Given the description of an element on the screen output the (x, y) to click on. 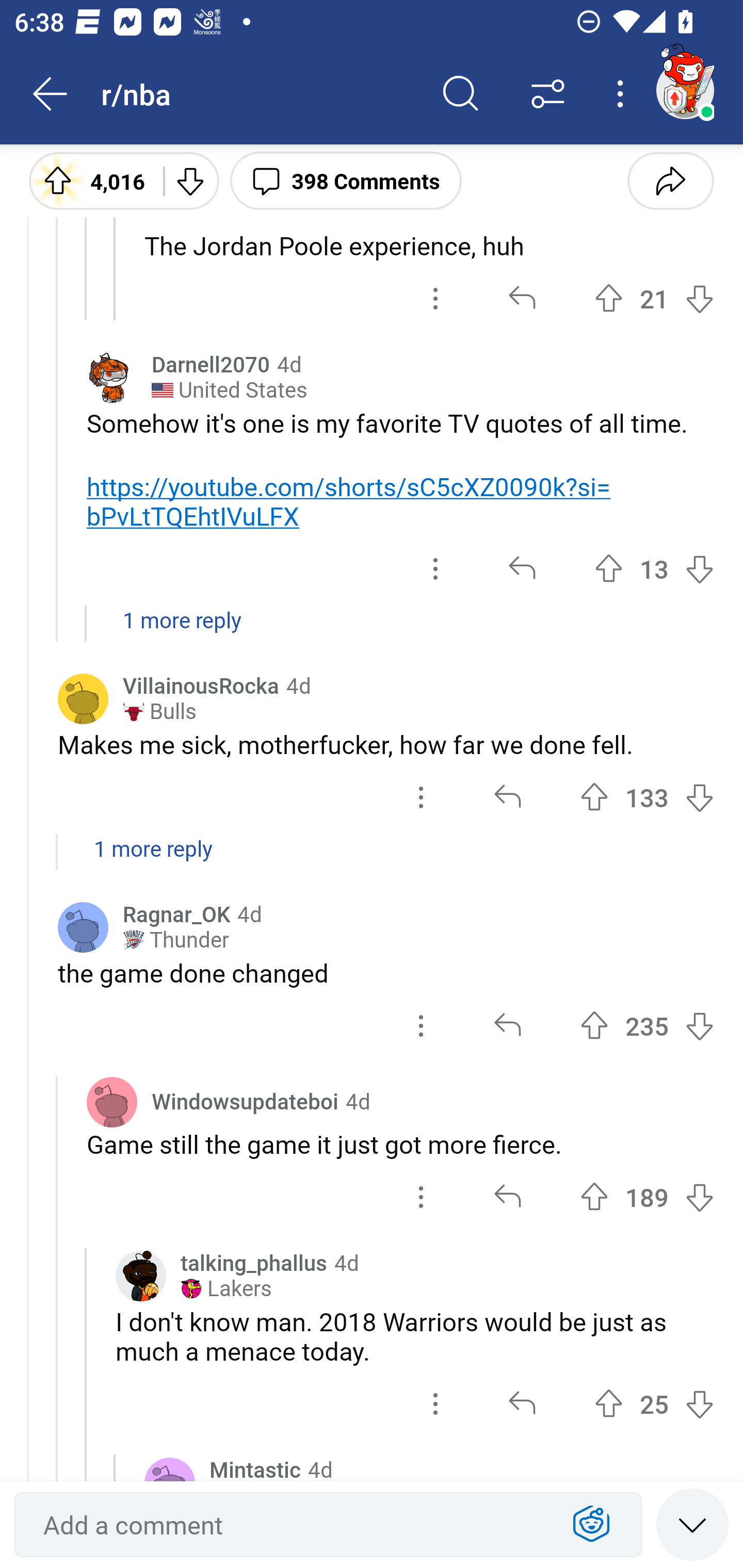
Back (50, 93)
TestAppium002 account (685, 90)
Search comments (460, 93)
Sort comments (547, 93)
More options (623, 93)
r/nba (259, 92)
Upvote 4,016 (88, 180)
Downvote (189, 180)
398 Comments (346, 180)
Share (670, 180)
options (435, 297)
Upvote 21 21 votes Downvote (654, 297)
Avatar (111, 377)
￼ United States (229, 389)
options (435, 569)
Upvote 13 13 votes Downvote (654, 569)
1 more reply (371, 630)
Avatar (82, 699)
￼ Bulls (159, 711)
Makes me sick, motherfucker, how far we done fell. (385, 744)
options (420, 798)
Upvote 133 133 votes Downvote (647, 798)
1 more reply (371, 859)
Avatar (82, 927)
￼ Thunder (175, 939)
the game done changed (385, 972)
options (420, 1025)
Upvote 235 235 votes Downvote (647, 1025)
Avatar (111, 1102)
Game still the game it just got more fierce. (400, 1143)
options (420, 1197)
Upvote 189 189 votes Downvote (647, 1197)
Custom avatar (140, 1276)
￼ Lakers (225, 1288)
options (435, 1403)
Upvote 25 25 votes Downvote (654, 1403)
Speed read (692, 1524)
Add a comment (291, 1524)
Show Expressions (590, 1524)
